Given the description of an element on the screen output the (x, y) to click on. 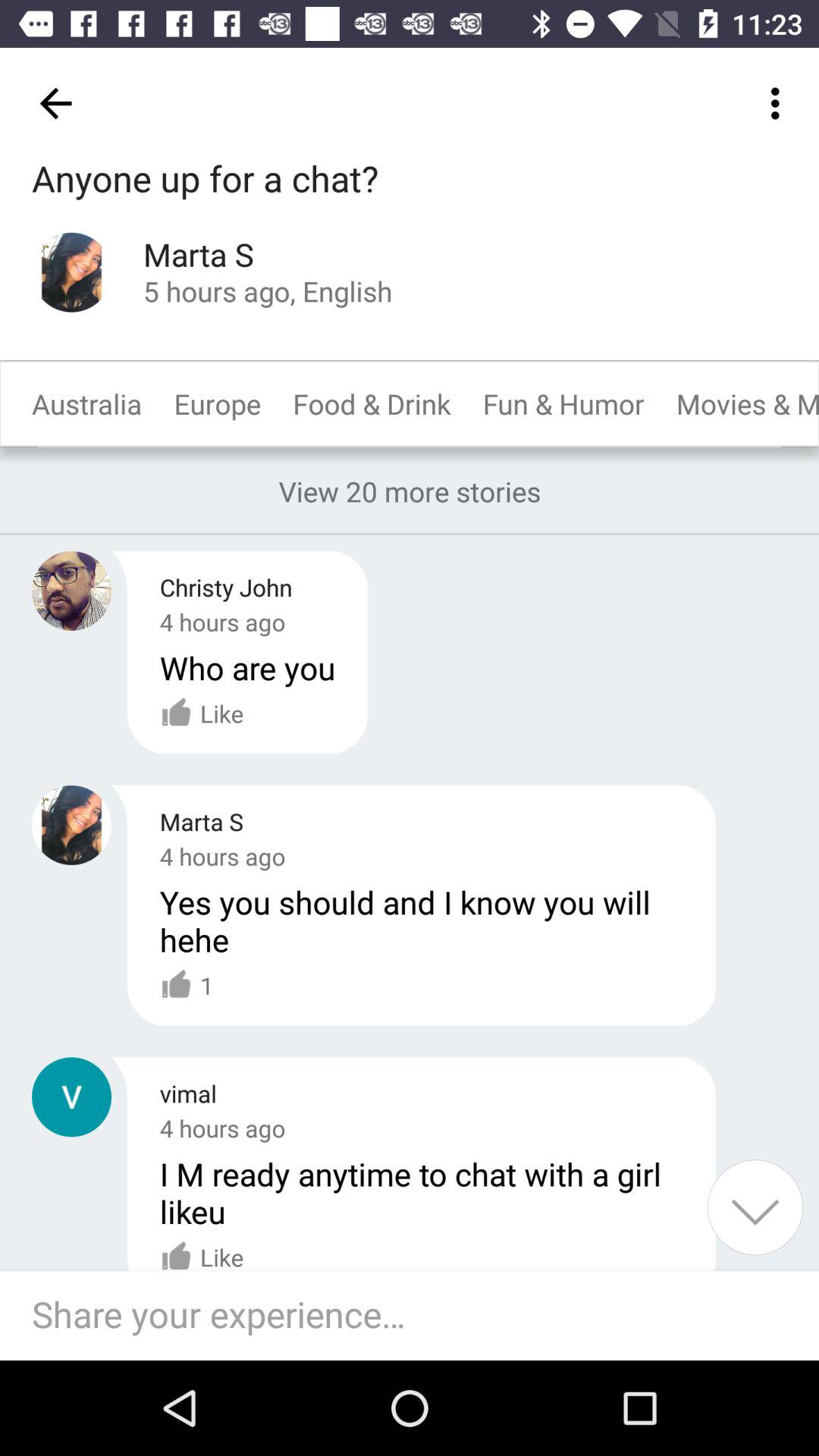
move to the text which is below the text likeu (201, 1248)
select the image which is left to vimal (71, 1097)
select the text box which says share your experience (417, 1315)
select drop down symbol at the bottom right corner of the page (755, 1206)
go to who are you (247, 667)
